Given the description of an element on the screen output the (x, y) to click on. 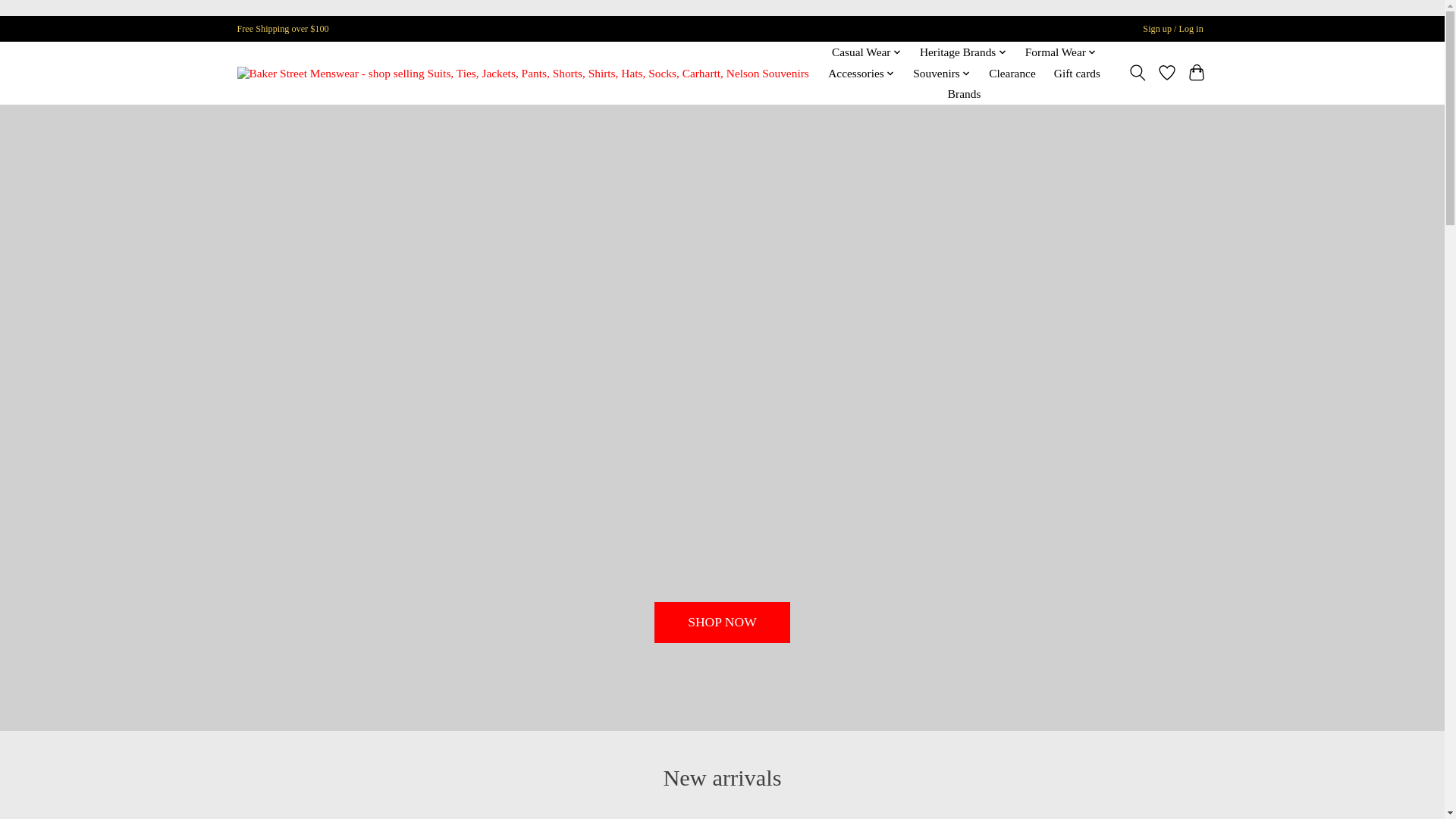
My account (1173, 28)
Heritage Brands (962, 52)
Formal Wear (1061, 52)
Casual Wear (867, 52)
Accessories (860, 73)
